Given the description of an element on the screen output the (x, y) to click on. 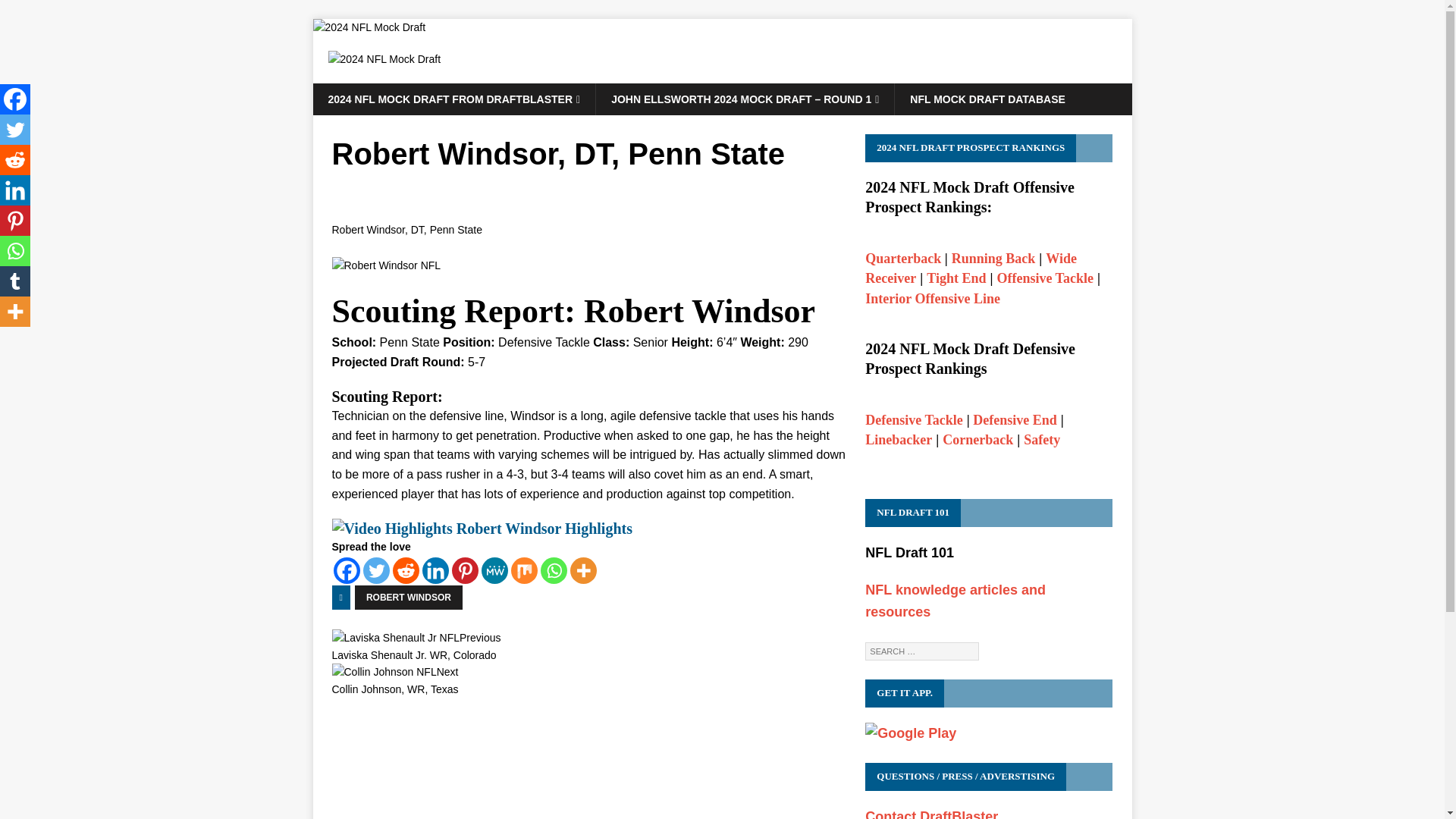
2024 NFL MOCK DRAFT FROM DRAFTBLASTER (454, 99)
Facebook (588, 681)
Twitter (346, 570)
Linkedin (15, 129)
Mix (435, 570)
2024 NFL Mock Draft (524, 570)
More (369, 27)
Robert Windsor Highlights (583, 570)
Twitter (481, 528)
